Given the description of an element on the screen output the (x, y) to click on. 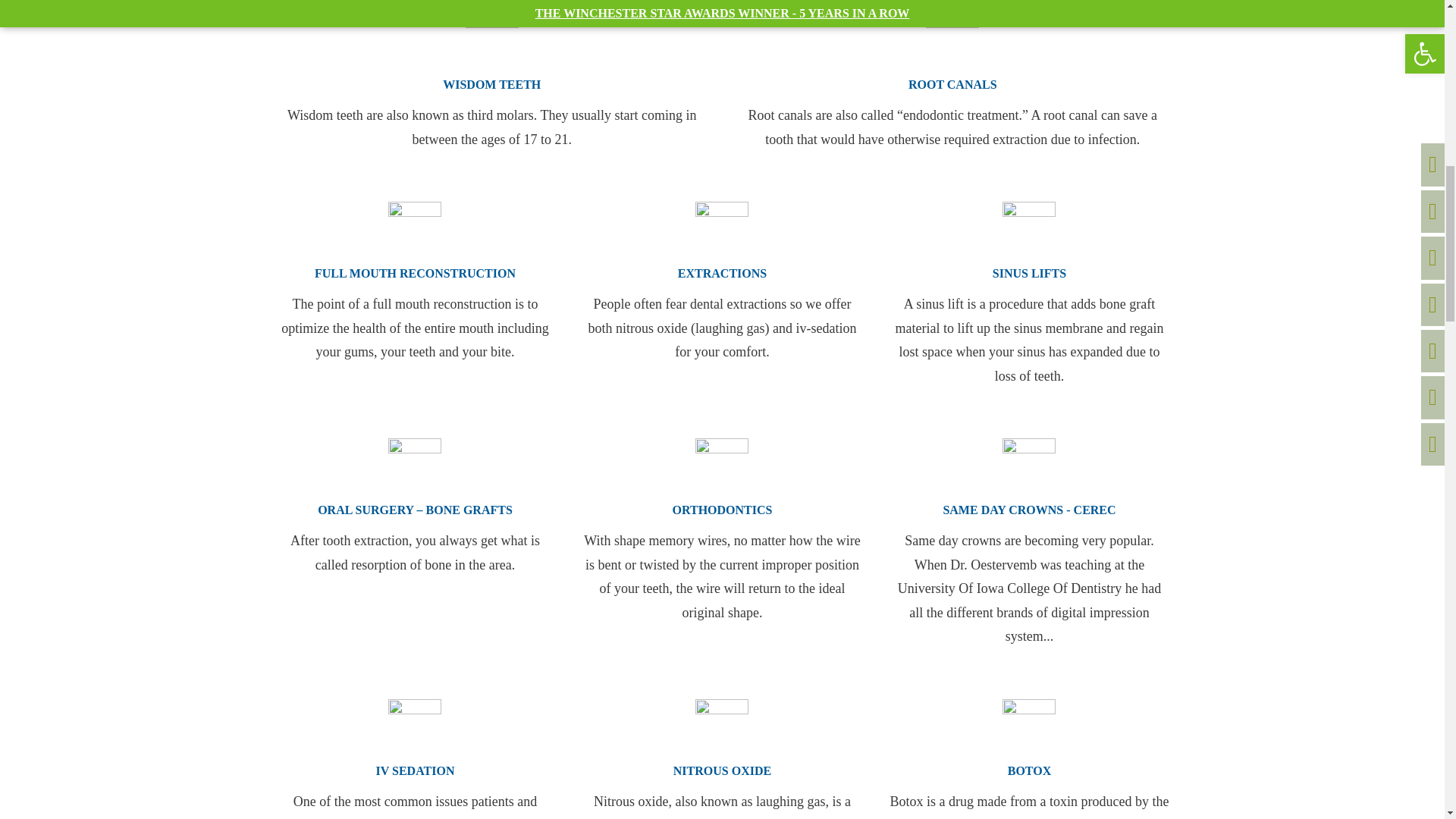
WISDOM TEETH (491, 39)
NITROUS OXIDE (721, 725)
CERAMIC CROWNS (1029, 464)
SINUS LIFTS (1029, 227)
ORAL SURGERY (414, 464)
ROOT CANALS (952, 39)
ORTHODONTICS (721, 464)
CERAMIC CROWNS (414, 725)
FULL MOUTH RECONSTRUCTION (414, 227)
botox (1029, 725)
